Given the description of an element on the screen output the (x, y) to click on. 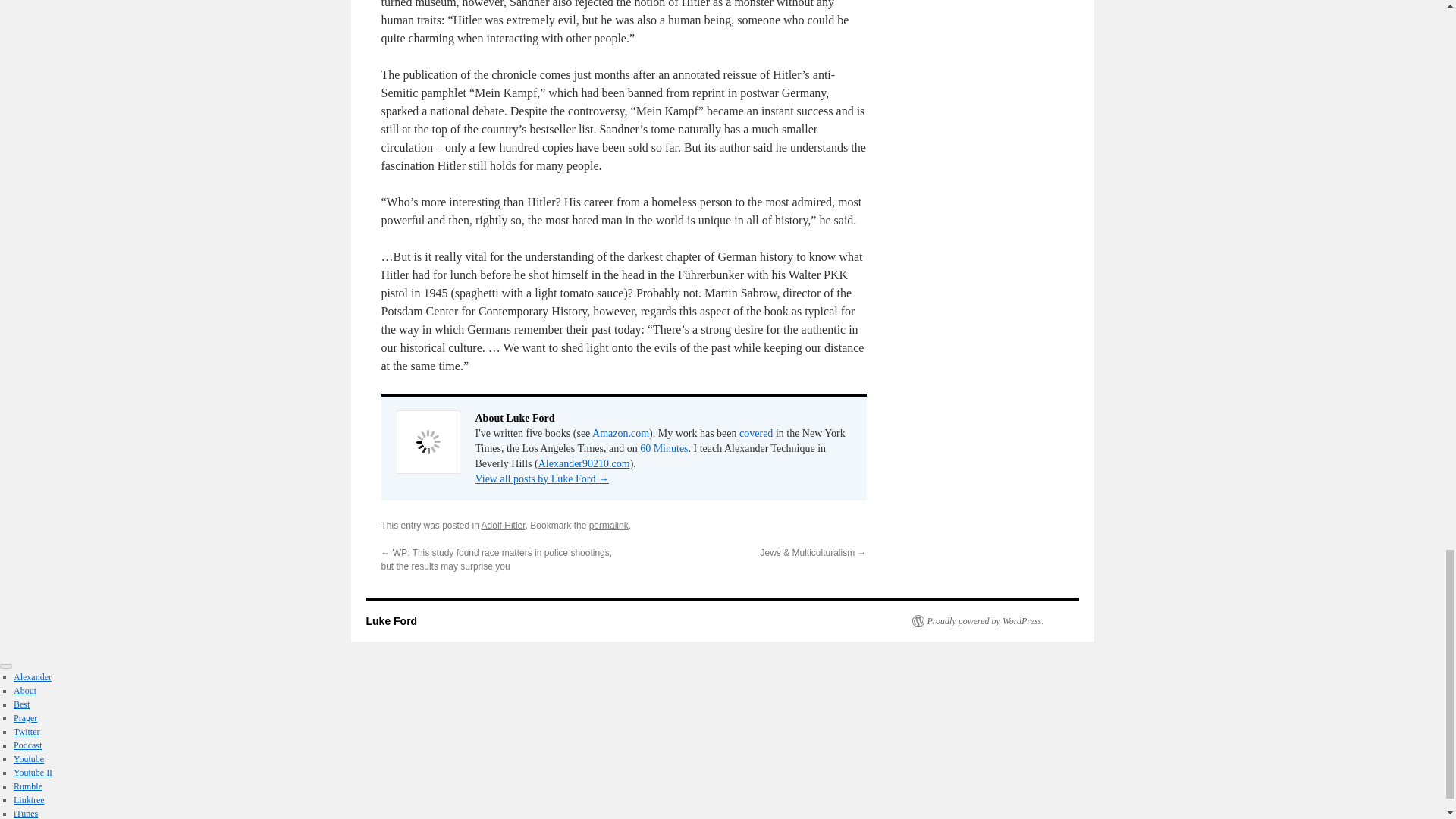
Semantic Personal Publishing Platform (977, 621)
Adolf Hitler (503, 525)
covered (756, 432)
60 Minutes (663, 448)
permalink (608, 525)
Amazon.com (620, 432)
Alexander90210.com (584, 463)
